Given the description of an element on the screen output the (x, y) to click on. 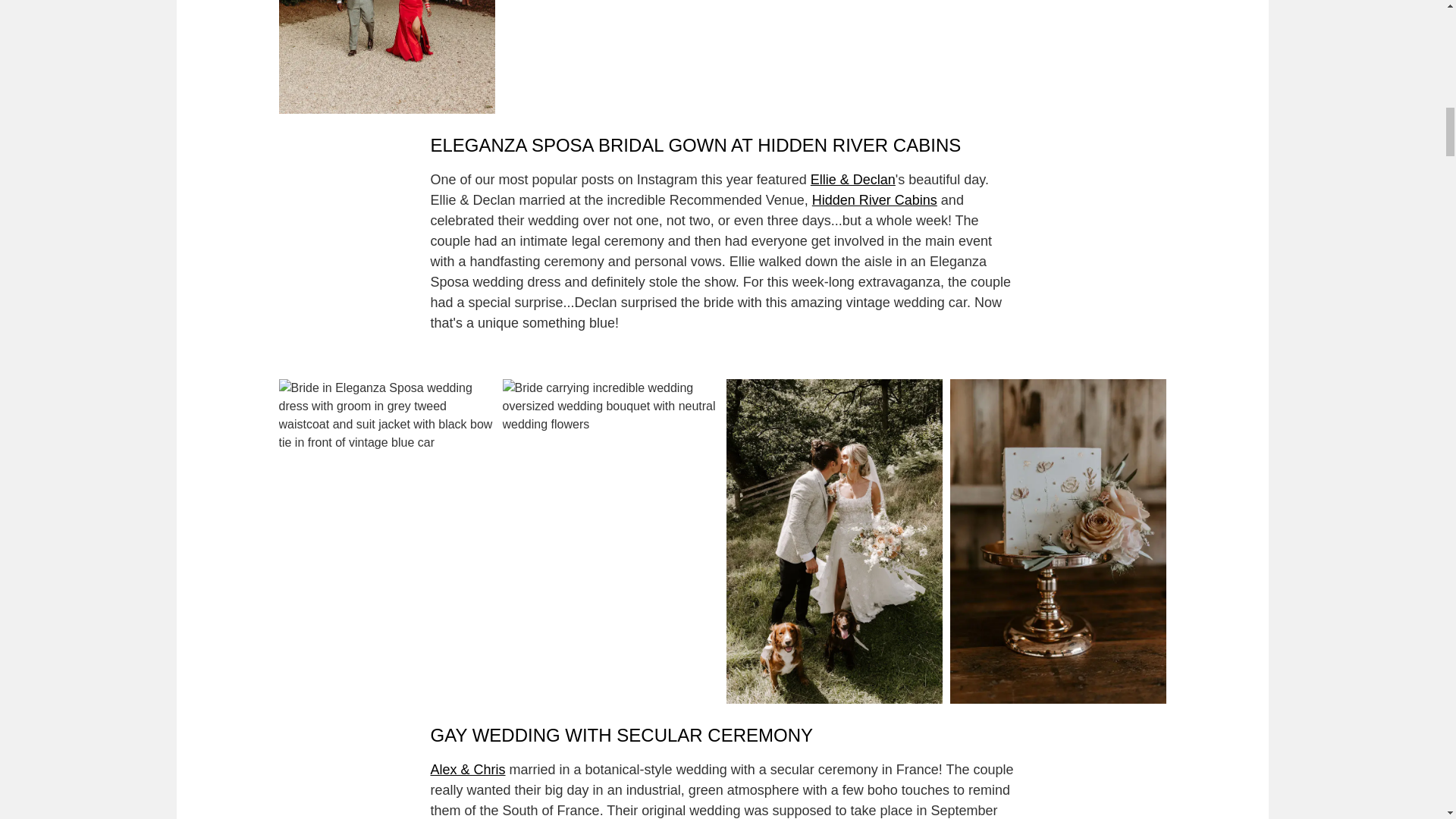
Hidden River Cabins (874, 200)
